Given the description of an element on the screen output the (x, y) to click on. 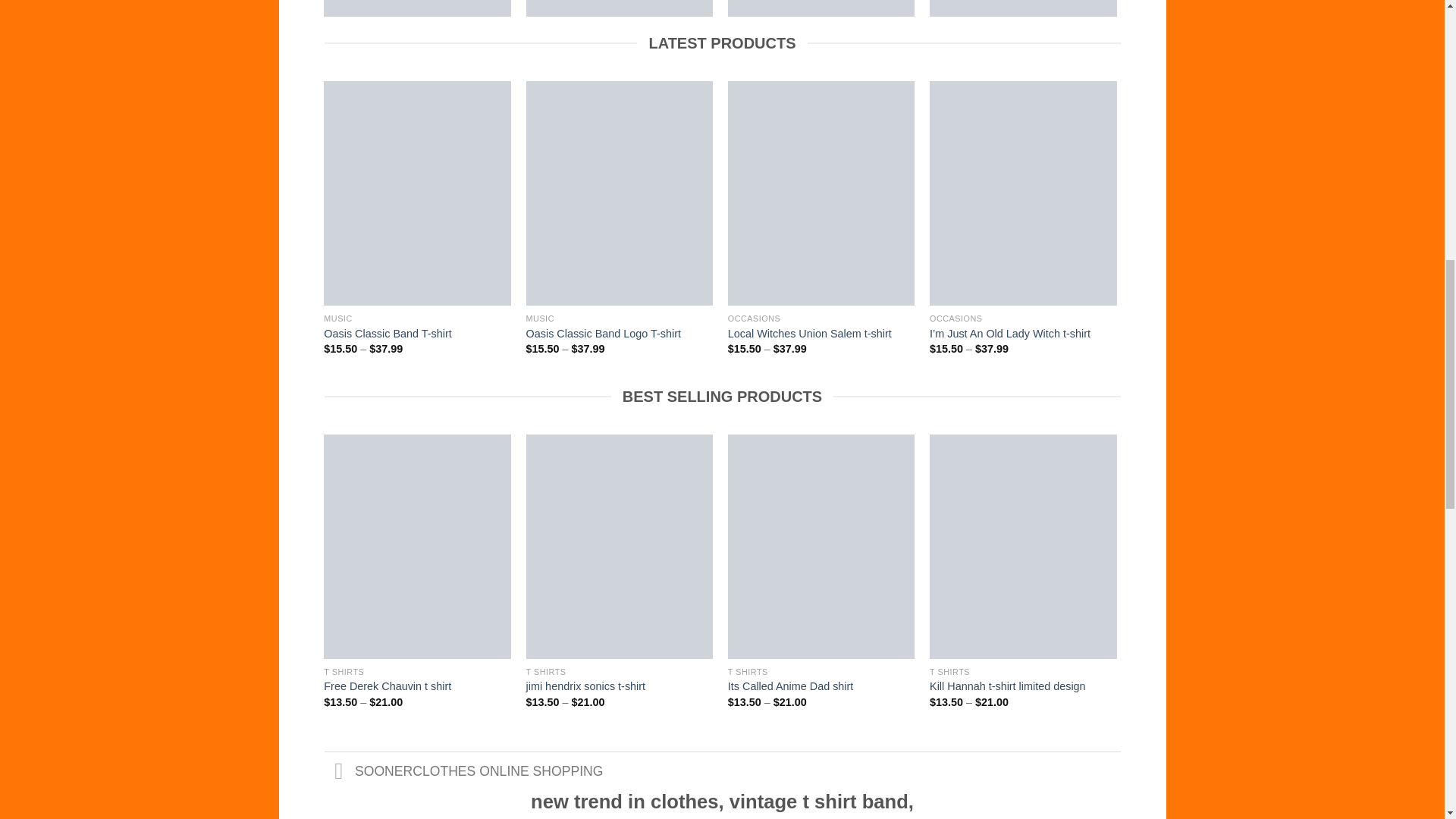
New trend in clothes 3 (417, 8)
New trend in clothes 4 (619, 8)
Oasis Classic Band Logo T-shirt (417, 8)
Oasis Classic Band T-shirt (619, 8)
